Given the description of an element on the screen output the (x, y) to click on. 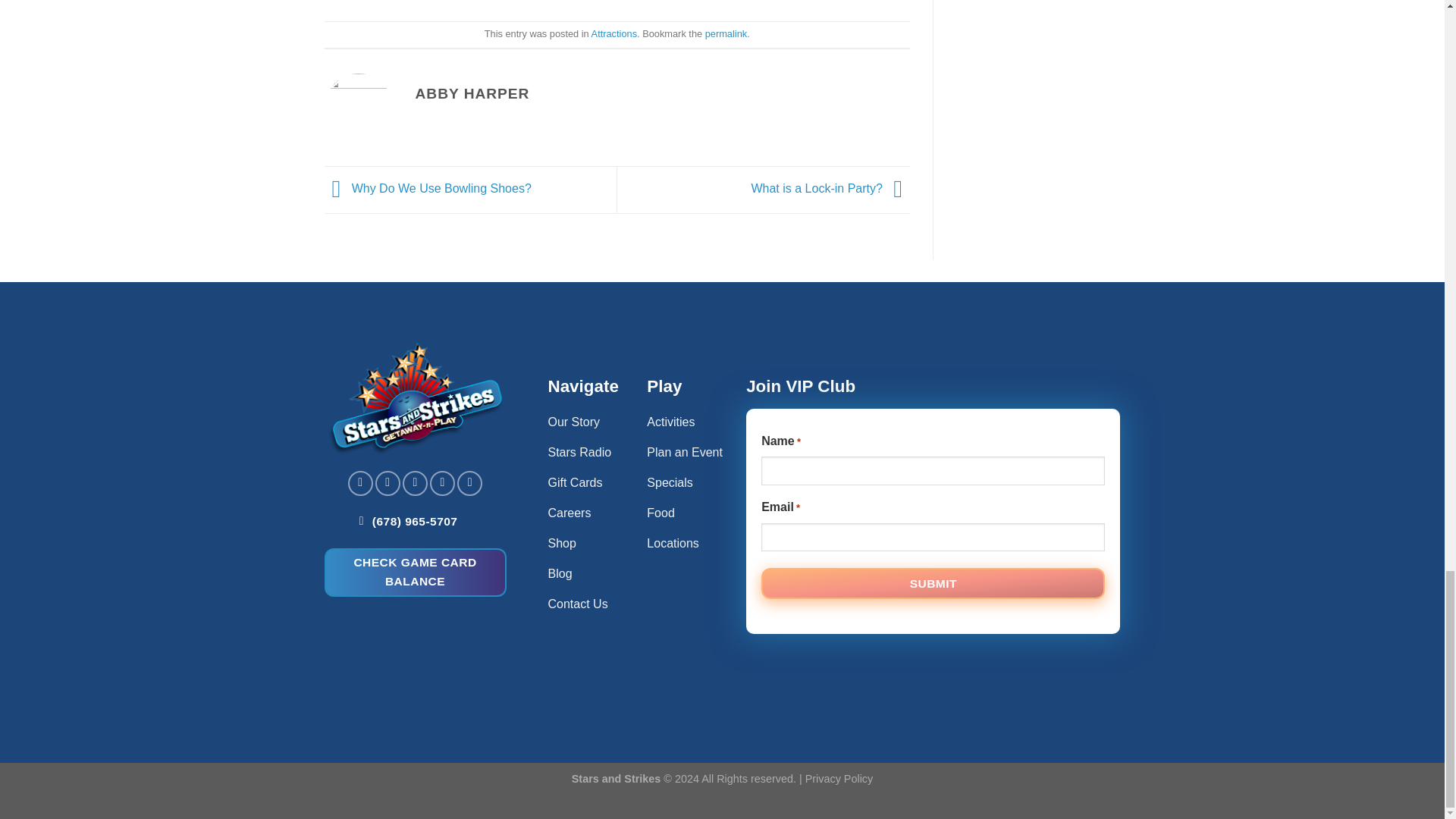
Follow on TikTok (415, 483)
Follow on X (441, 483)
Permalink to What Are the Fundamentals of Axe Throwing? (725, 33)
Follow on Facebook (359, 483)
Submit (933, 583)
Follow on Instagram (387, 483)
Follow on LinkedIn (469, 483)
